Given the description of an element on the screen output the (x, y) to click on. 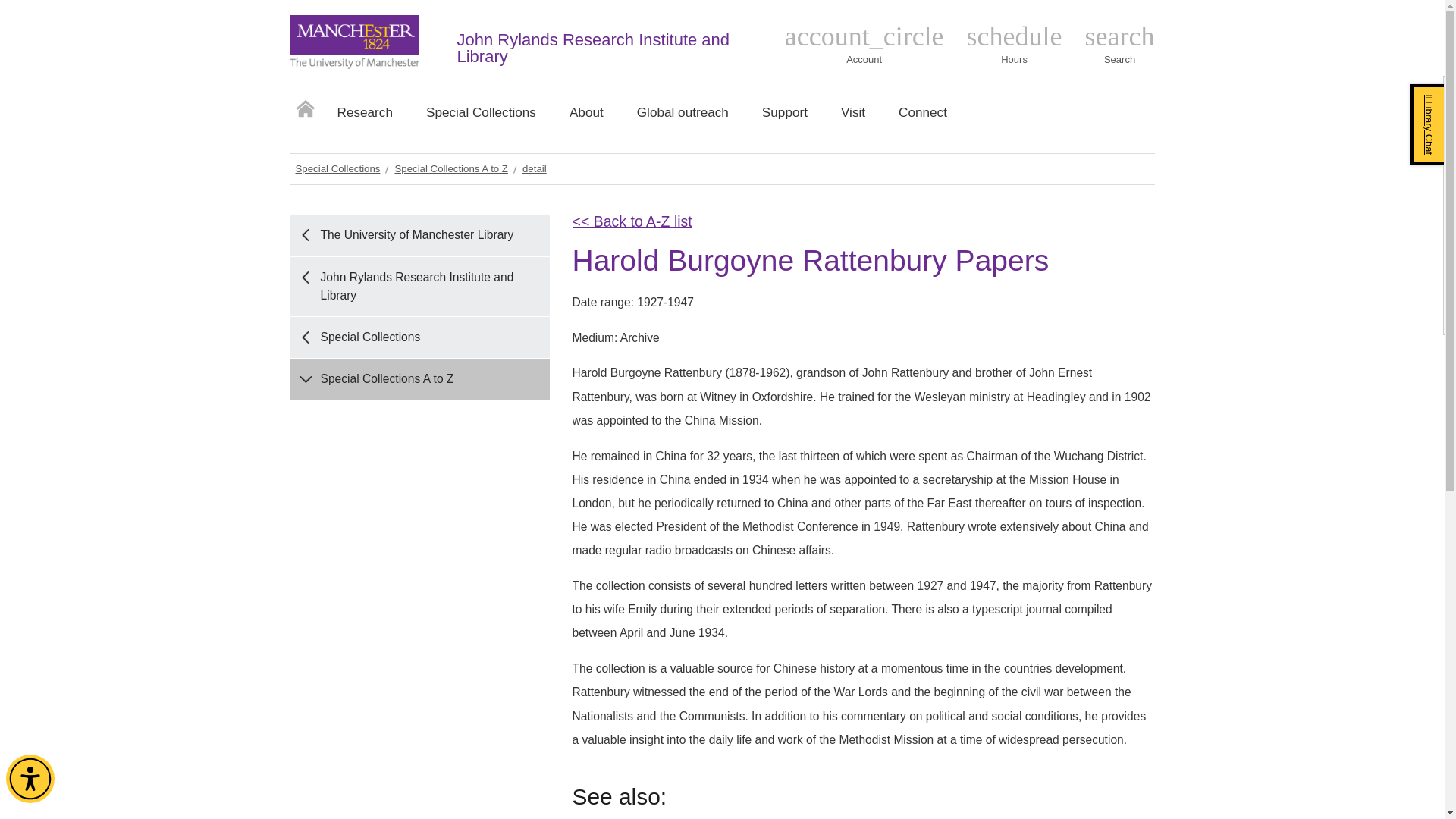
About (586, 118)
Special Collections (481, 118)
Accessibility Menu (30, 778)
Hours (1014, 44)
Research (364, 118)
John Rylands Research Institute and Library (593, 48)
back (1014, 44)
